Given the description of an element on the screen output the (x, y) to click on. 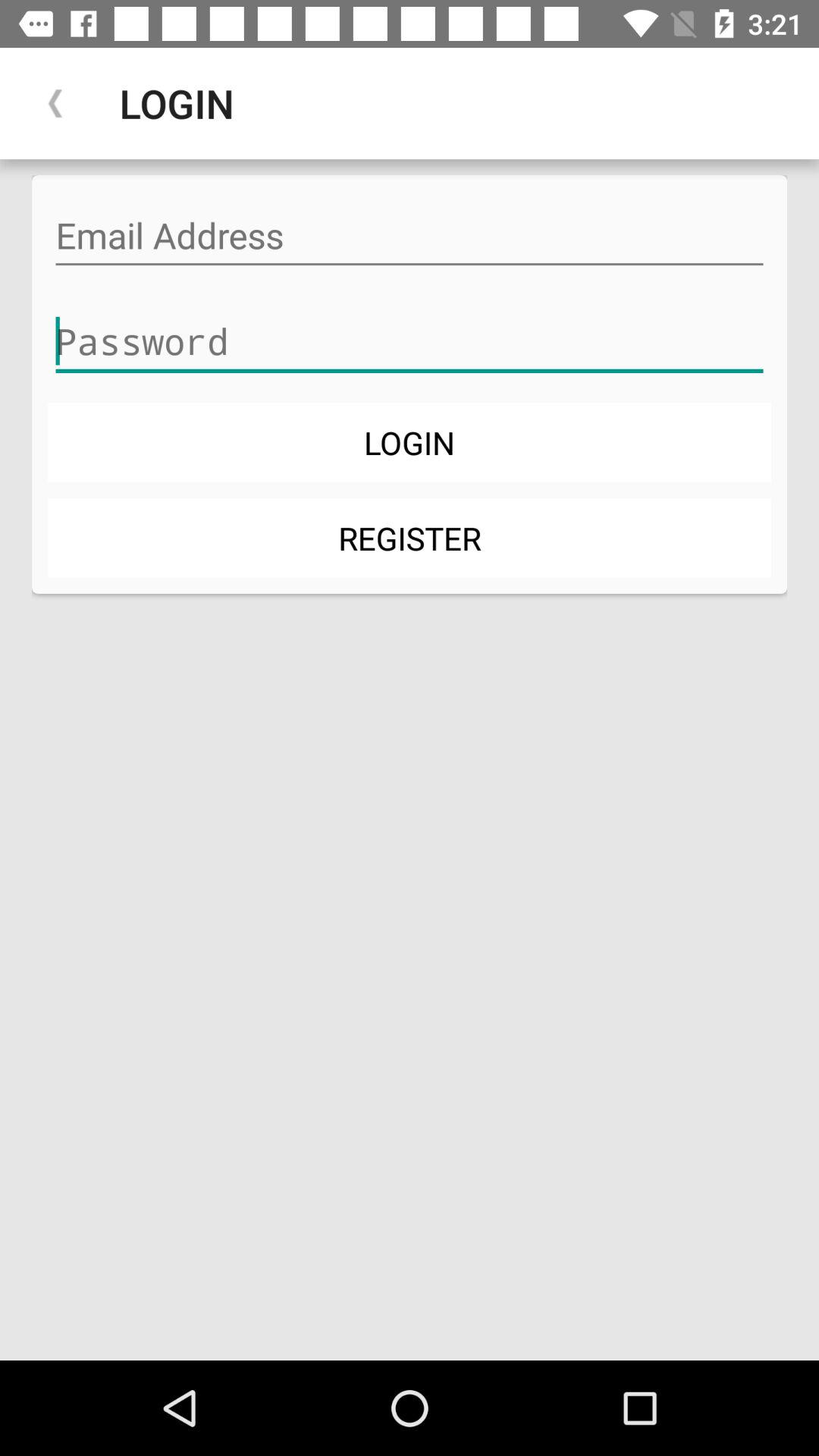
select icon below login item (409, 537)
